Given the description of an element on the screen output the (x, y) to click on. 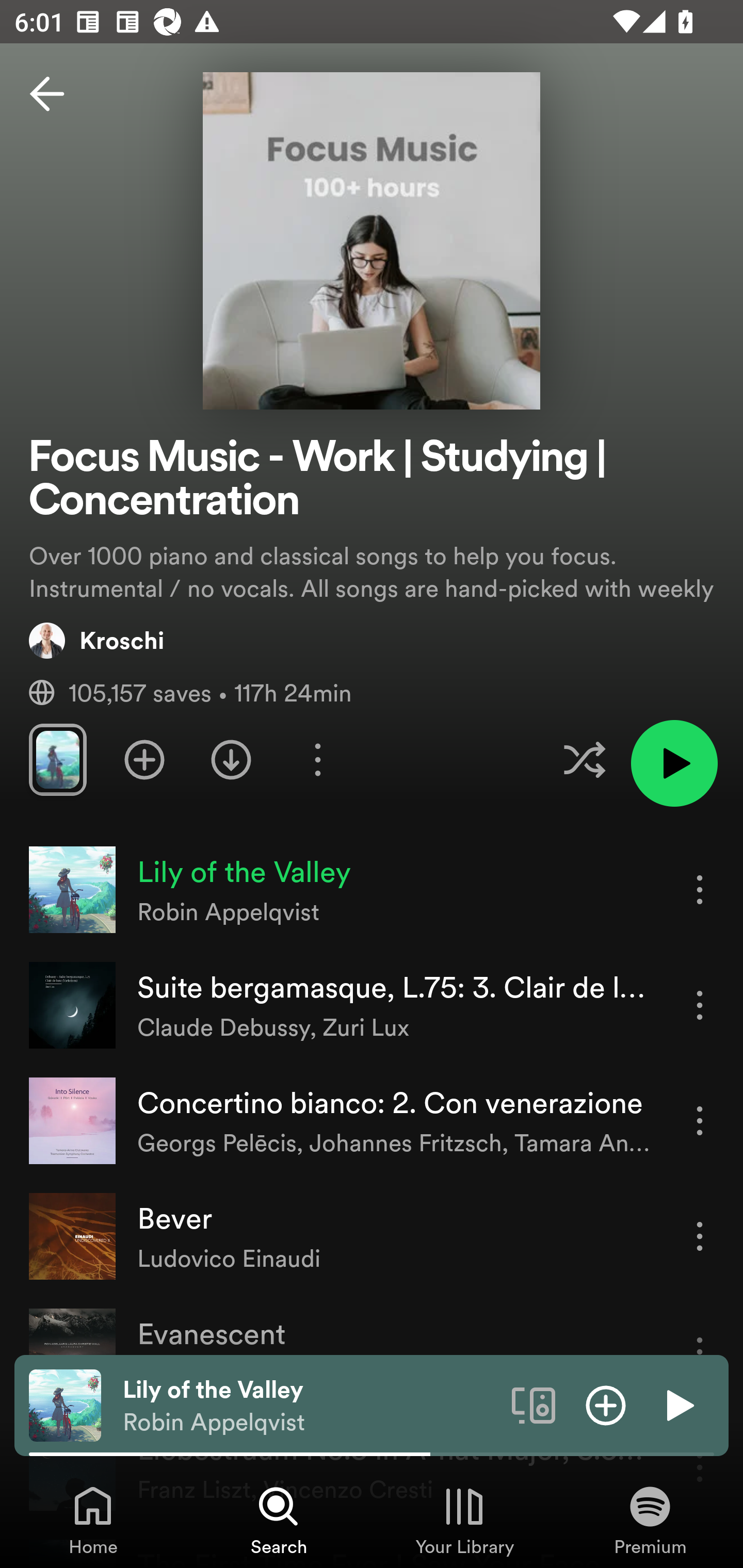
Back (46, 93)
Kroschi (96, 640)
Swipe through previews of tracks in this playlist. (57, 759)
Add playlist to Your Library (144, 759)
Download (230, 759)
Enable shuffle for this playlist (583, 759)
Play playlist (674, 763)
More options for song Lily of the Valley (699, 889)
Bever Ludovico Einaudi More options for song Bever (371, 1236)
More options for song Bever (699, 1236)
Lily of the Valley Robin Appelqvist (309, 1405)
The cover art of the currently playing track (64, 1404)
Connect to a device. Opens the devices menu (533, 1404)
Add item (605, 1404)
Play (677, 1404)
Home, Tab 1 of 4 Home Home (92, 1519)
Search, Tab 2 of 4 Search Search (278, 1519)
Your Library, Tab 3 of 4 Your Library Your Library (464, 1519)
Premium, Tab 4 of 4 Premium Premium (650, 1519)
